Given the description of an element on the screen output the (x, y) to click on. 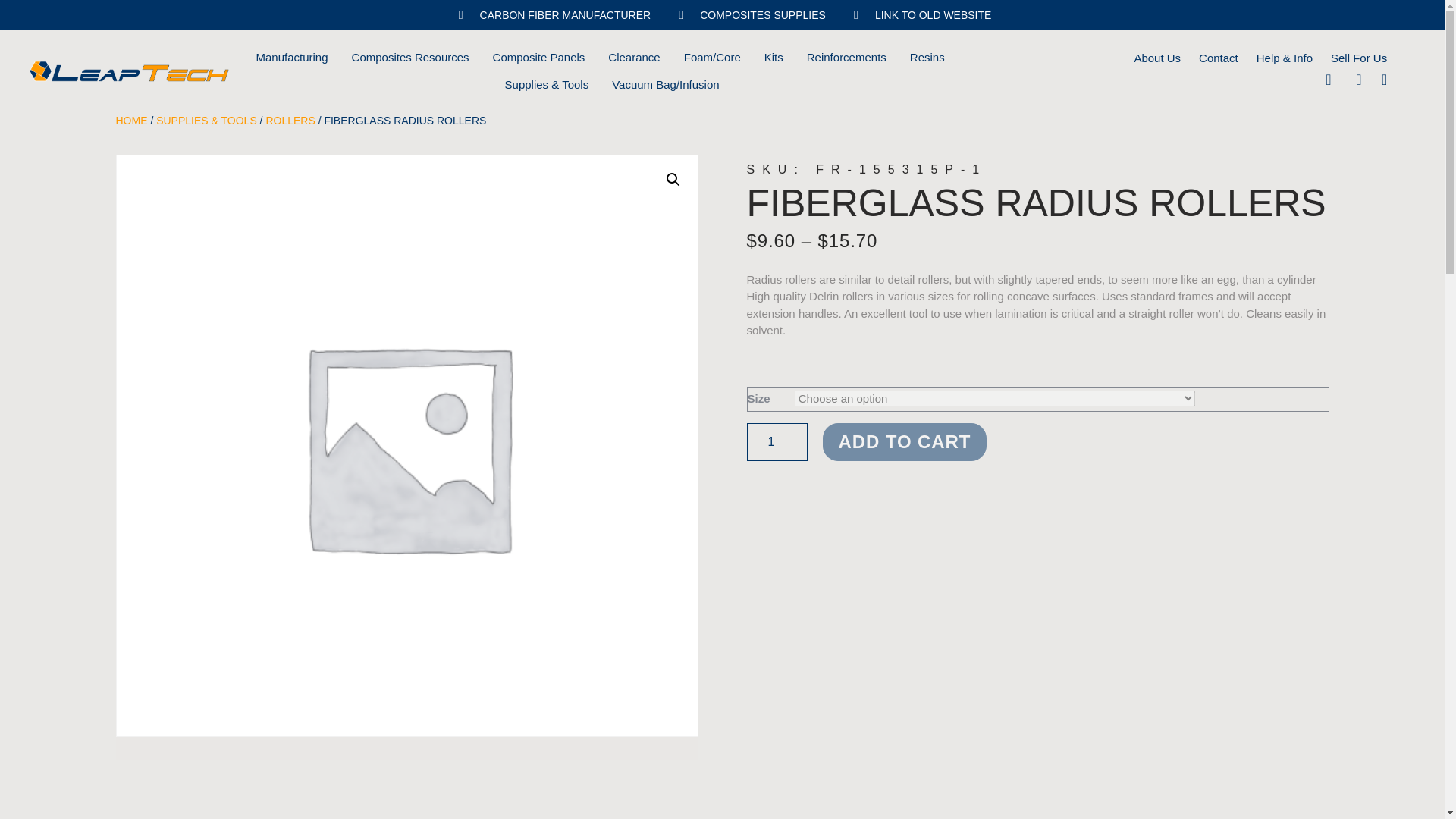
LINK TO OLD WEBSITE (919, 15)
Composite Panels (539, 57)
Composites Resources (410, 57)
Resins (927, 57)
Reinforcements (846, 57)
leaptech-logo-3-01 - LeapTech Composite Materials and Parts (128, 71)
1 (775, 442)
Clearance (633, 57)
Manufacturing (291, 57)
CARBON FIBER MANUFACTURER (551, 15)
Kits (773, 57)
